Given the description of an element on the screen output the (x, y) to click on. 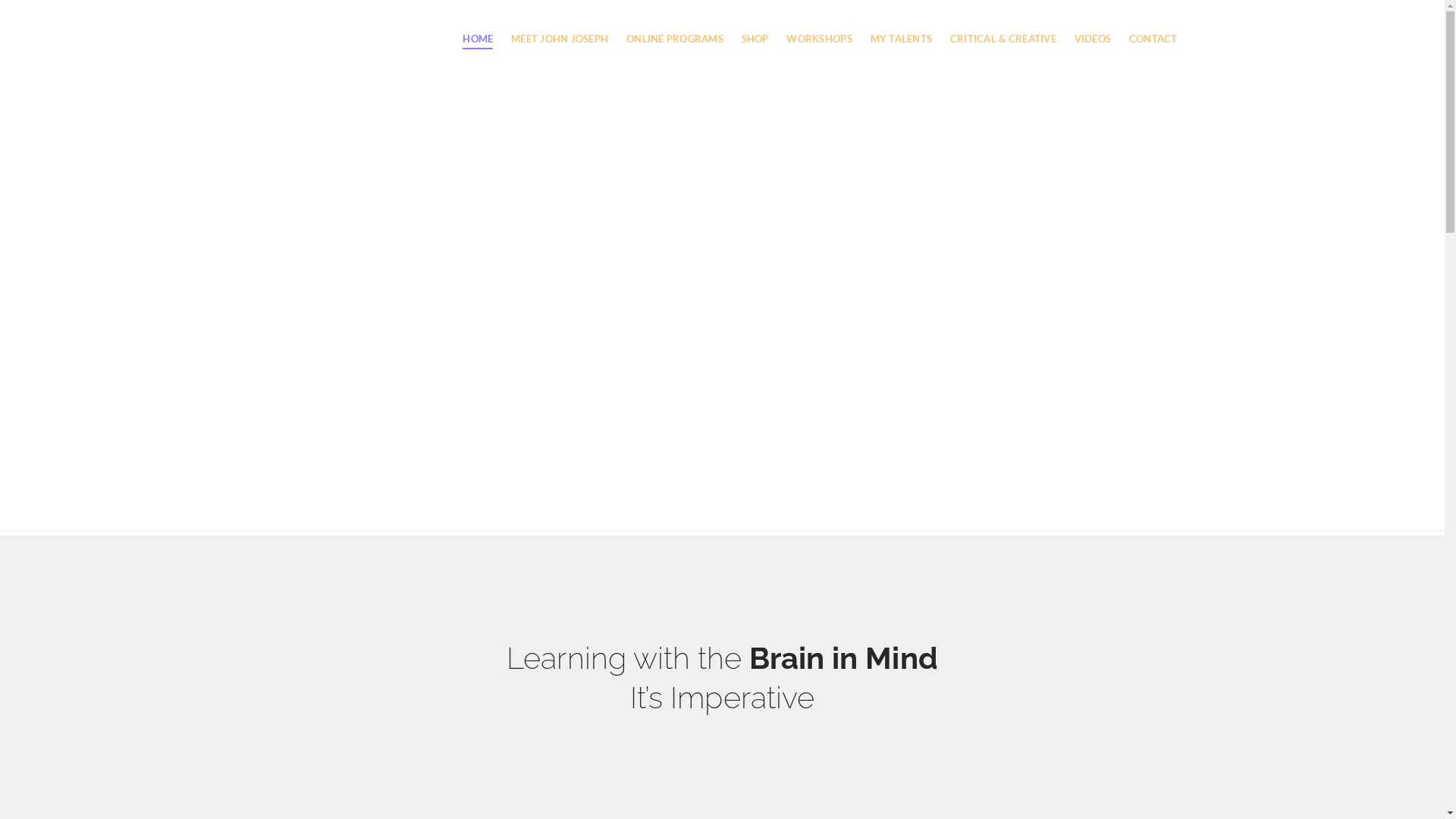
SHOP Element type: text (755, 17)
WORKSHOPS Element type: text (818, 17)
CONTACT Element type: text (1148, 17)
HOME Element type: text (477, 17)
MY TALENTS Element type: text (901, 17)
MEET JOHN JOSEPH Element type: text (559, 17)
VIDEOS Element type: text (1092, 17)
CRITICAL & CREATIVE Element type: text (1003, 17)
ONLINE PROGRAMS Element type: text (674, 17)
